Given the description of an element on the screen output the (x, y) to click on. 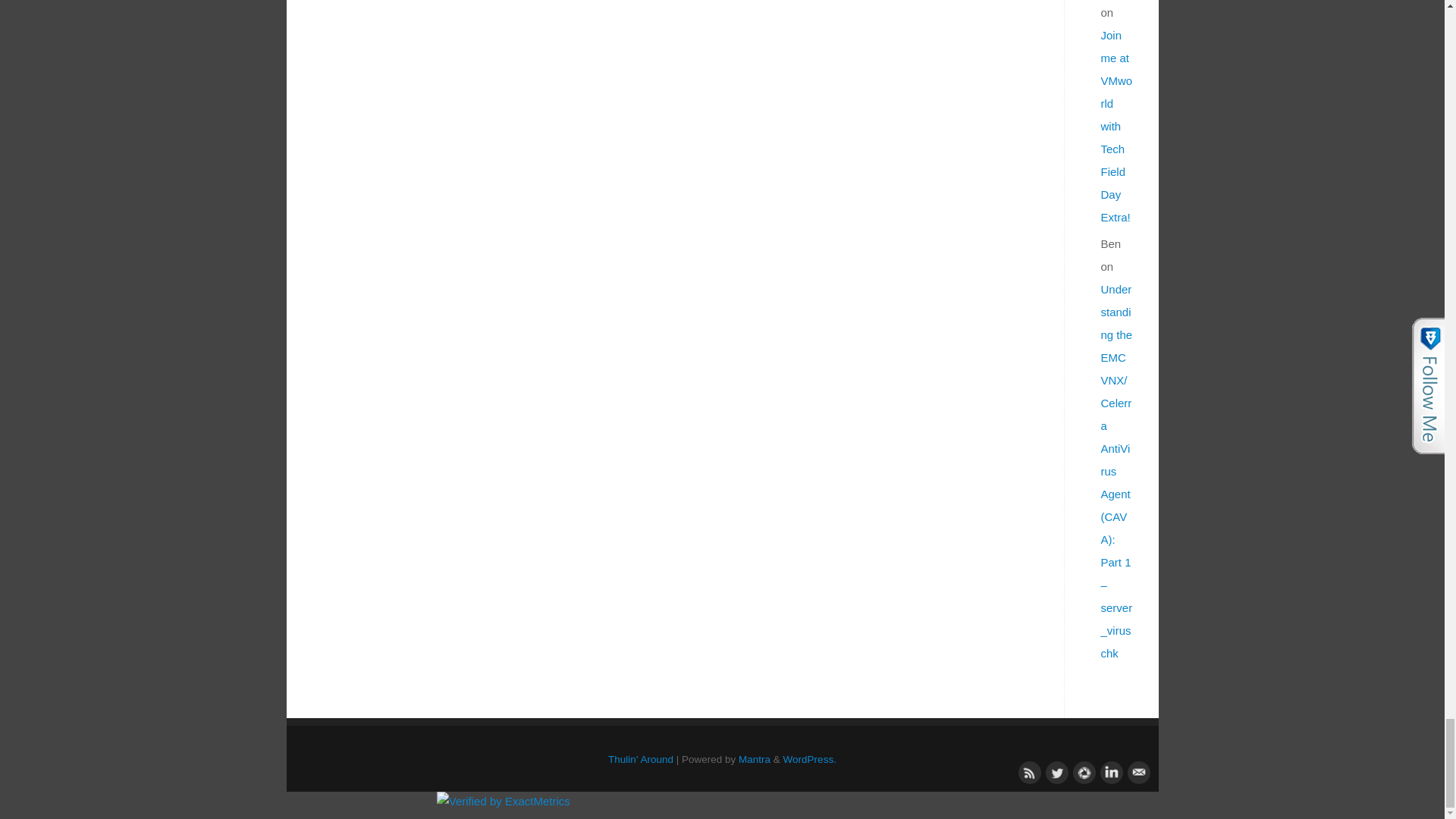
Thulin' Around (640, 758)
